Given the description of an element on the screen output the (x, y) to click on. 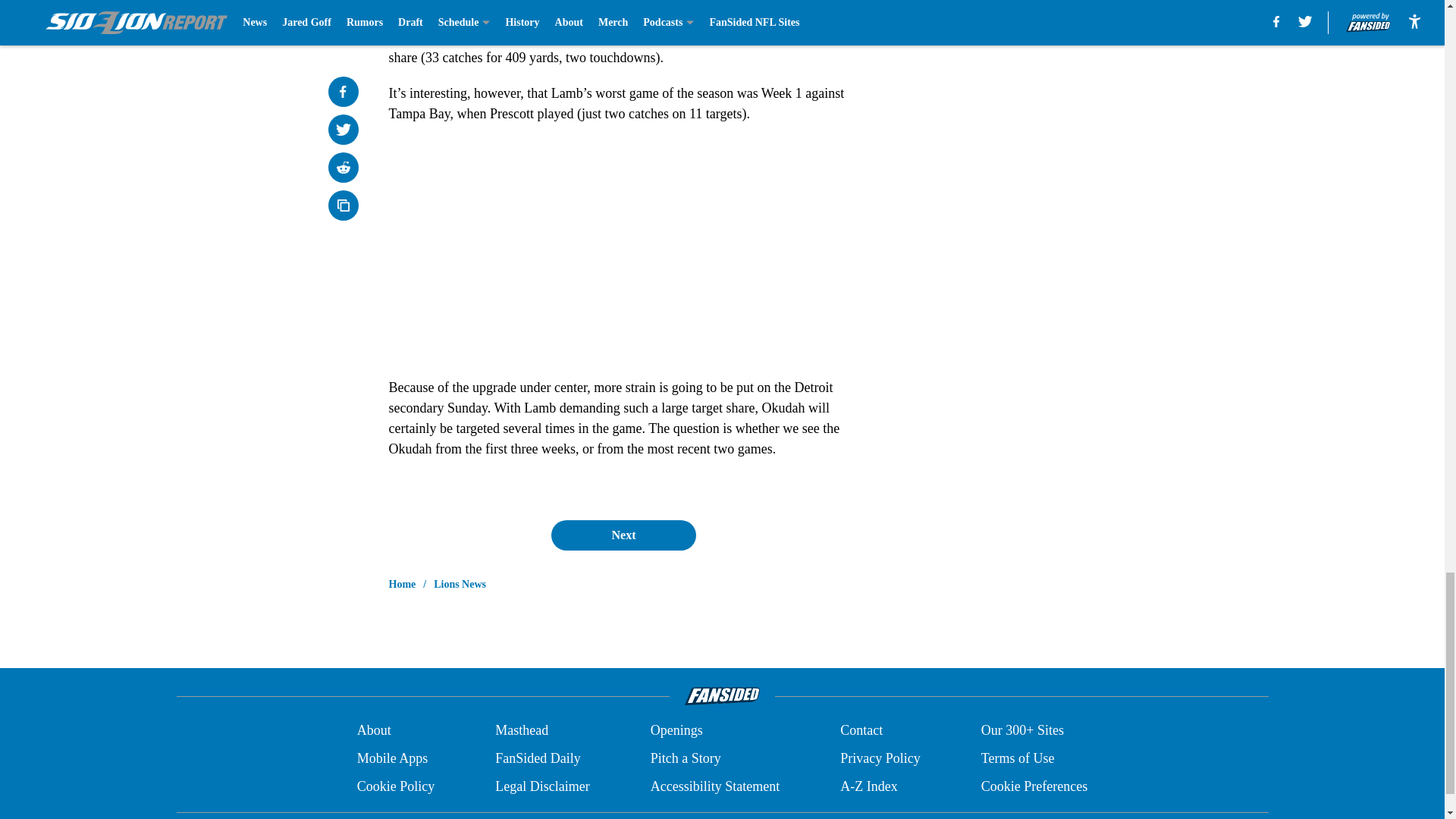
Lions News (459, 584)
About (373, 730)
Next (622, 535)
Contact (861, 730)
Masthead (521, 730)
Home (401, 584)
Openings (676, 730)
